Given the description of an element on the screen output the (x, y) to click on. 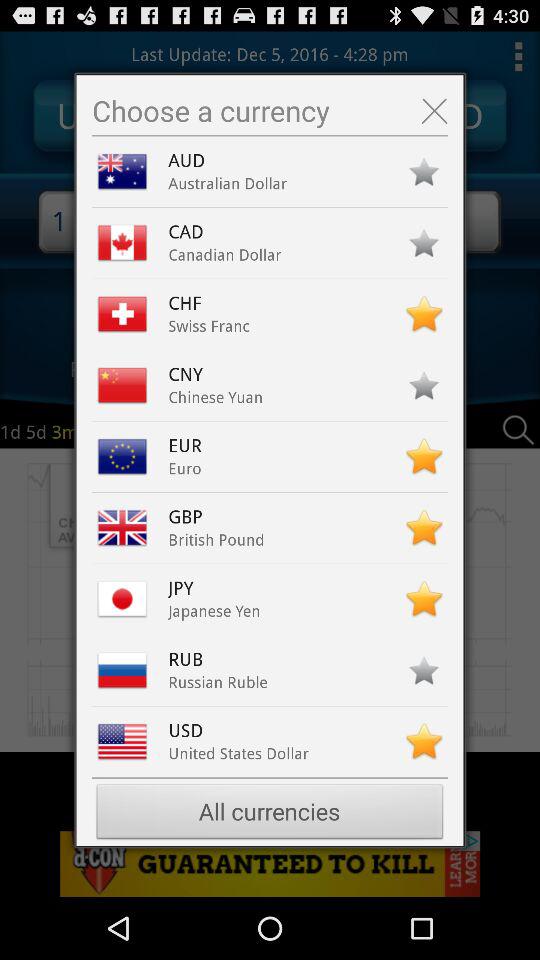
press icon below the aud app (227, 183)
